Given the description of an element on the screen output the (x, y) to click on. 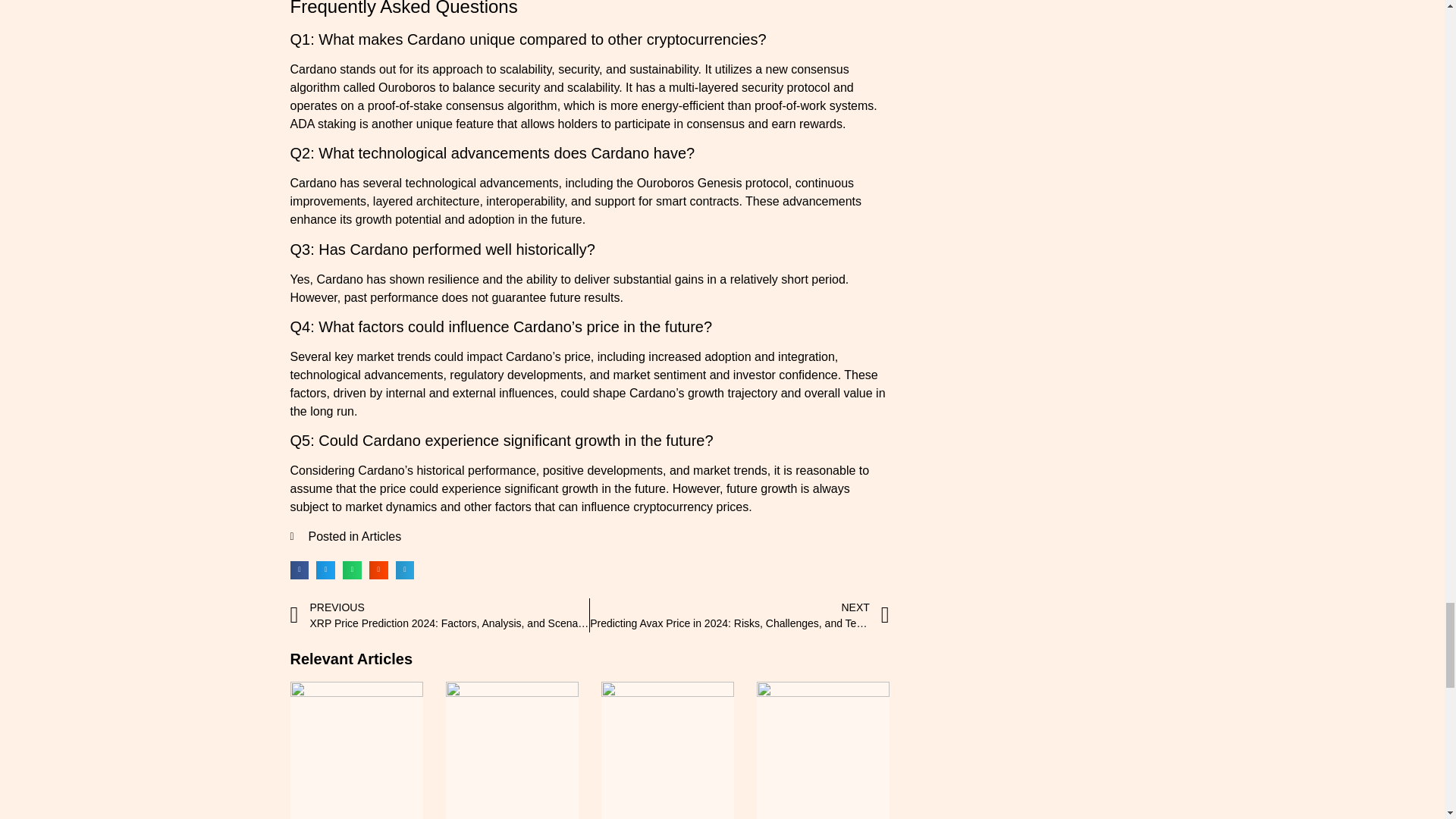
Articles (381, 535)
